Given the description of an element on the screen output the (x, y) to click on. 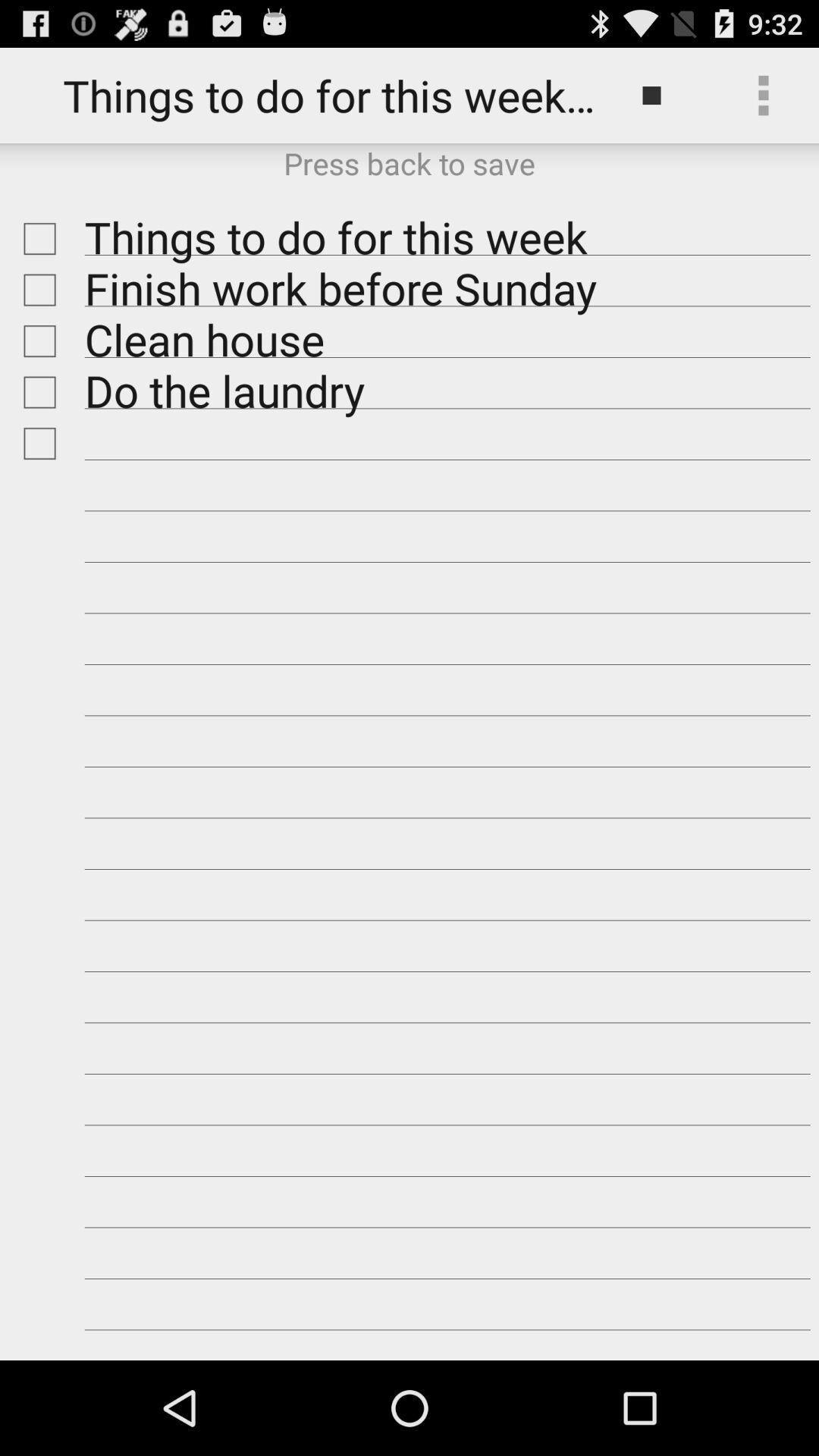
add thing to do this week (35, 443)
